Given the description of an element on the screen output the (x, y) to click on. 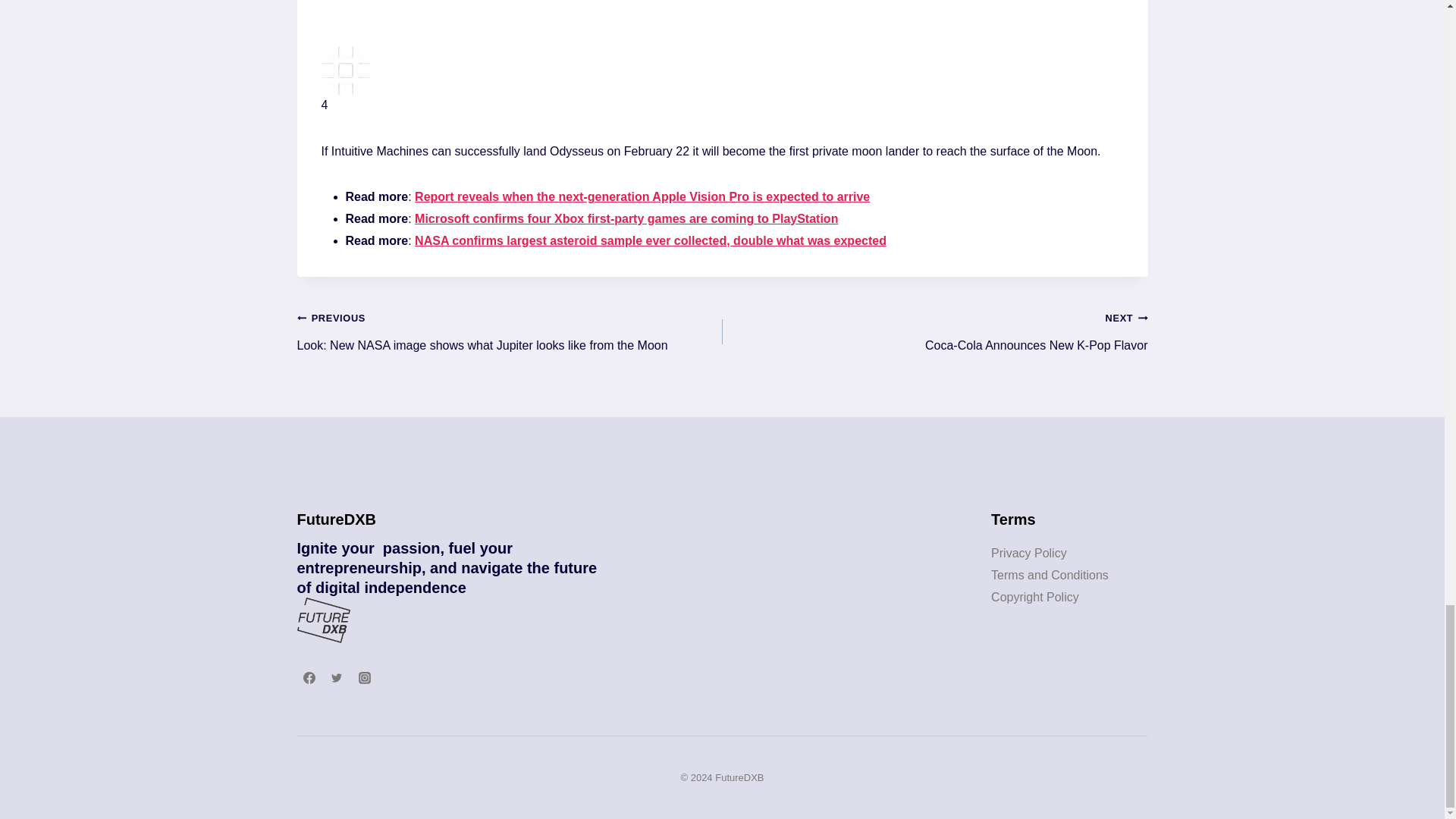
Terms and Conditions (1049, 574)
Privacy Policy (1029, 553)
Copyright Policy (934, 331)
Open Gallery (1034, 595)
